Given the description of an element on the screen output the (x, y) to click on. 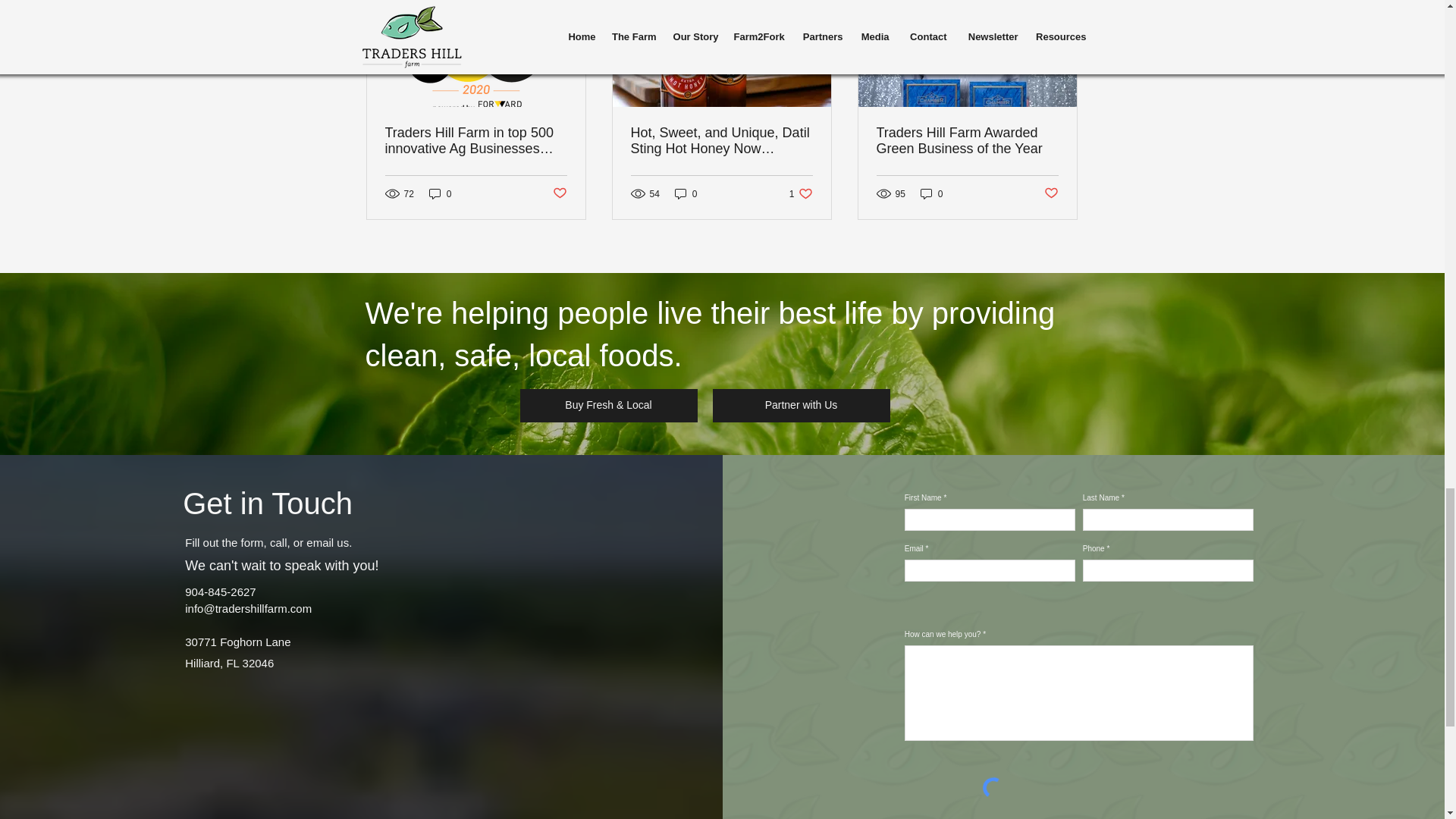
Google Maps (358, 756)
0 (440, 193)
Post not marked as liked (1050, 193)
Traders Hill Farm Awarded Green Business of the Year (967, 141)
Post not marked as liked (800, 193)
Partner with Us (558, 193)
0 (801, 405)
0 (931, 193)
